Given the description of an element on the screen output the (x, y) to click on. 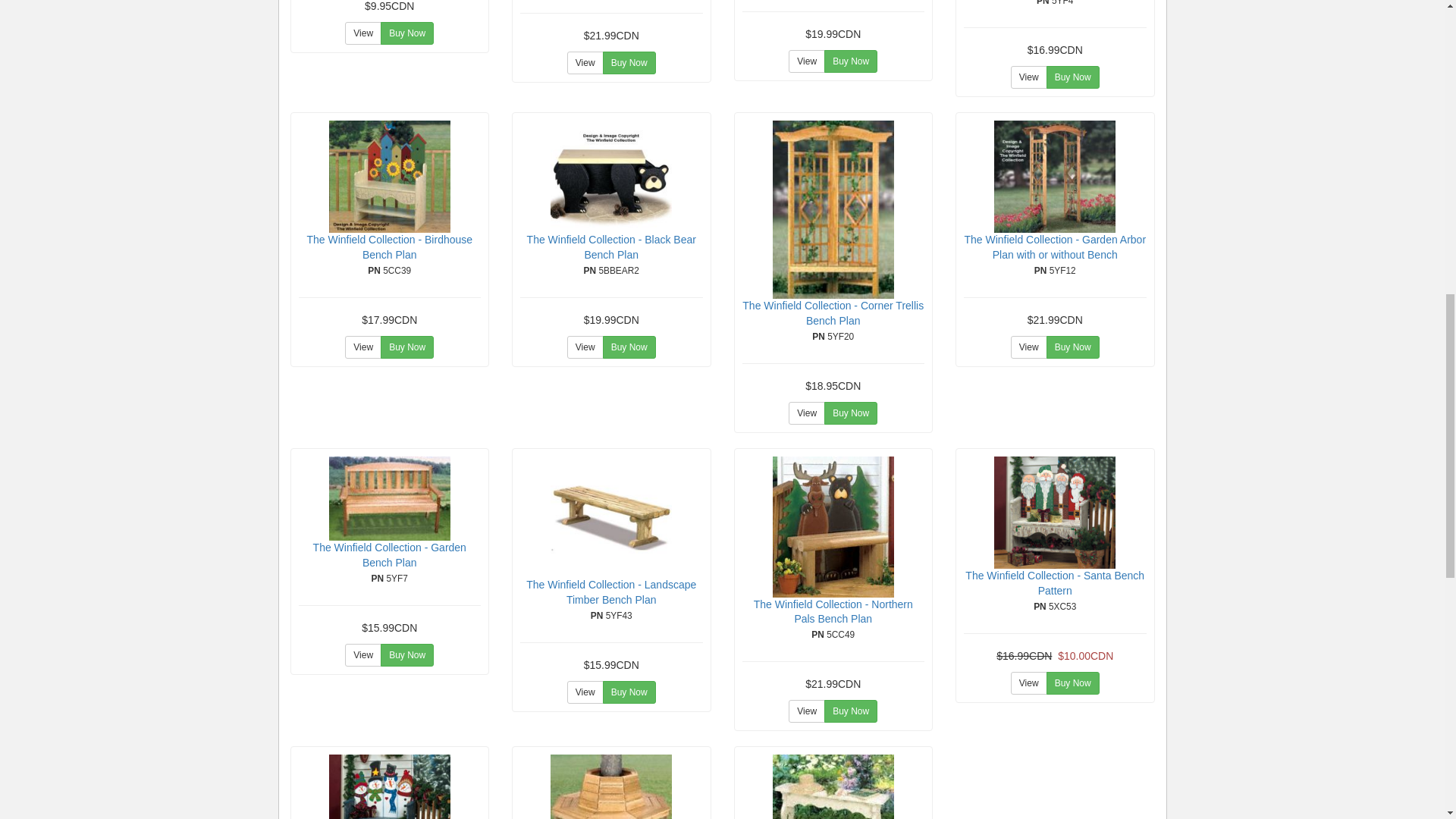
The Winfield Collection - Black Bear Bench Plan (610, 176)
The Winfield Collection - Garden Bench Plan (389, 498)
The Winfield Collection - Birdhouse Bench Plan (389, 176)
The Winfield Collection - Landscape Timber Bench Plan (610, 517)
